Given the description of an element on the screen output the (x, y) to click on. 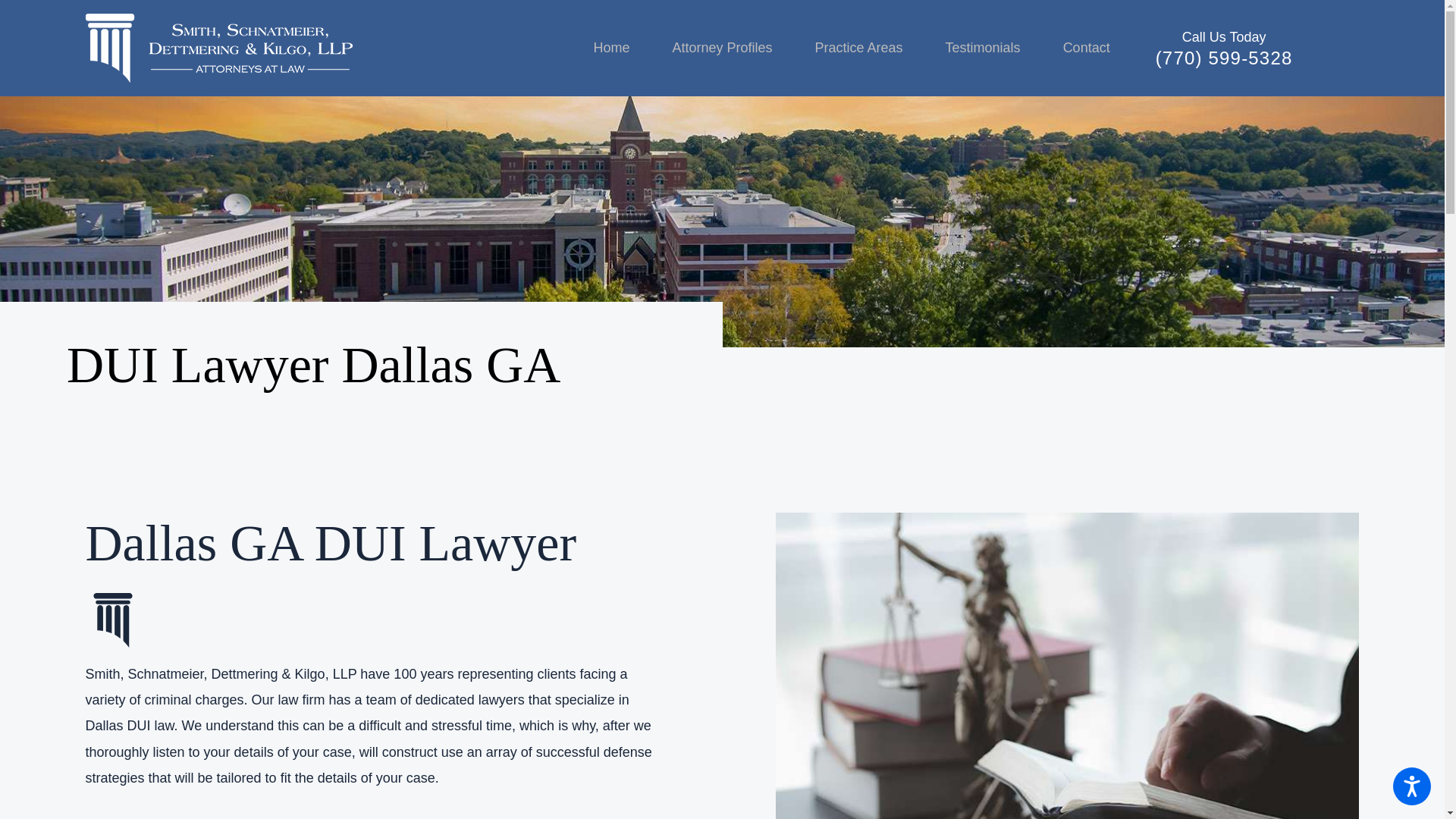
Home (621, 48)
Attorney Profiles (721, 48)
Practice Areas (858, 48)
Open the accessibility options menu (1412, 786)
